Given the description of an element on the screen output the (x, y) to click on. 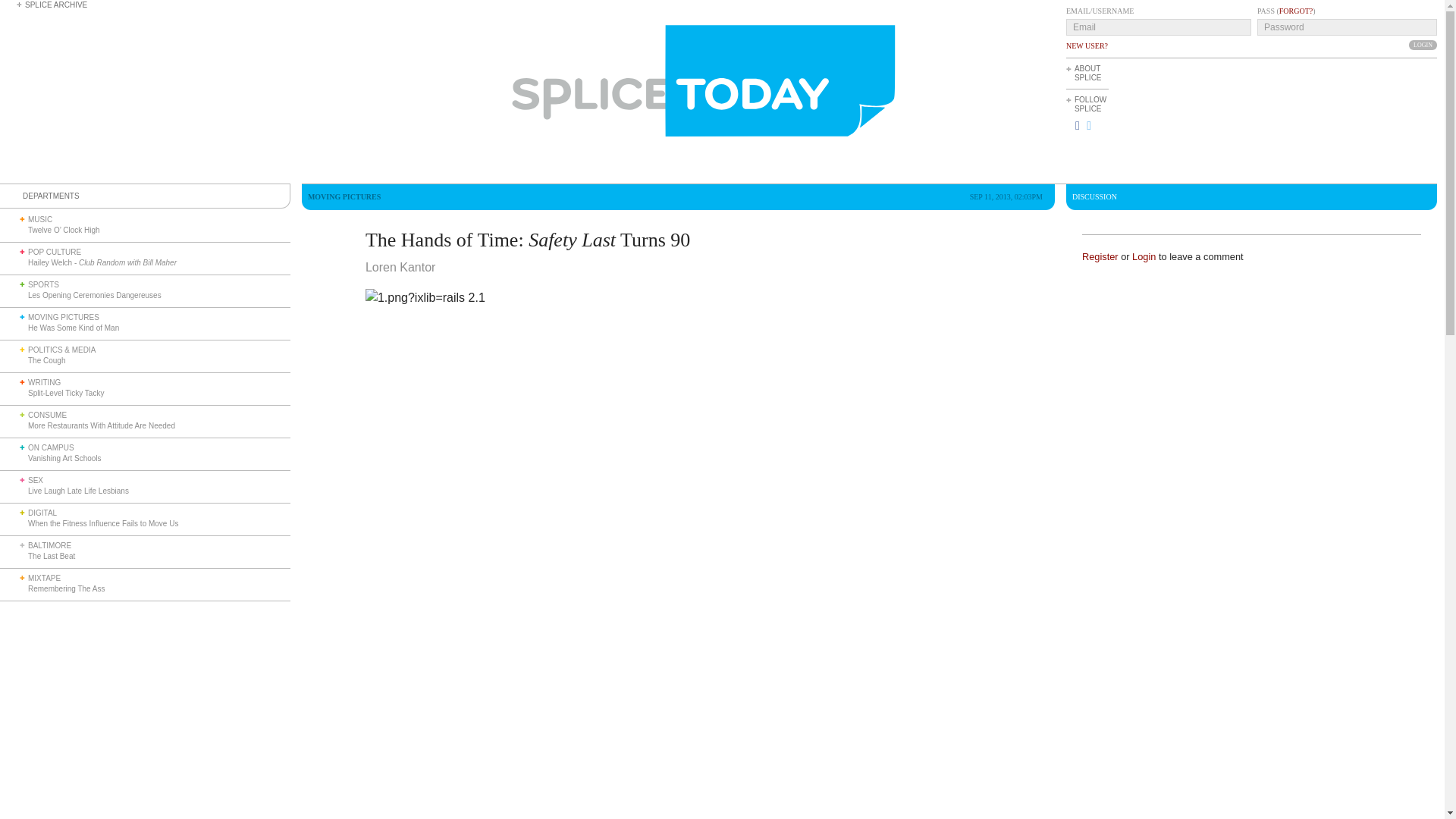
He Was Some Kind of Man (73, 327)
MOVING PICTURES (63, 316)
POP CULTURE (54, 252)
The Last Beat (51, 556)
Remembering The Ass (65, 588)
BALTIMORE (49, 545)
SPLICE ARCHIVE (55, 4)
When the Fitness Influence Fails to Move Us (102, 523)
SEX (35, 479)
Login (1423, 44)
Split-Level Ticky Tacky (65, 393)
Live Laugh Late Life Lesbians (78, 490)
Login (1423, 44)
ABOUT SPLICE (1088, 72)
NEW USER? (1086, 45)
